Given the description of an element on the screen output the (x, y) to click on. 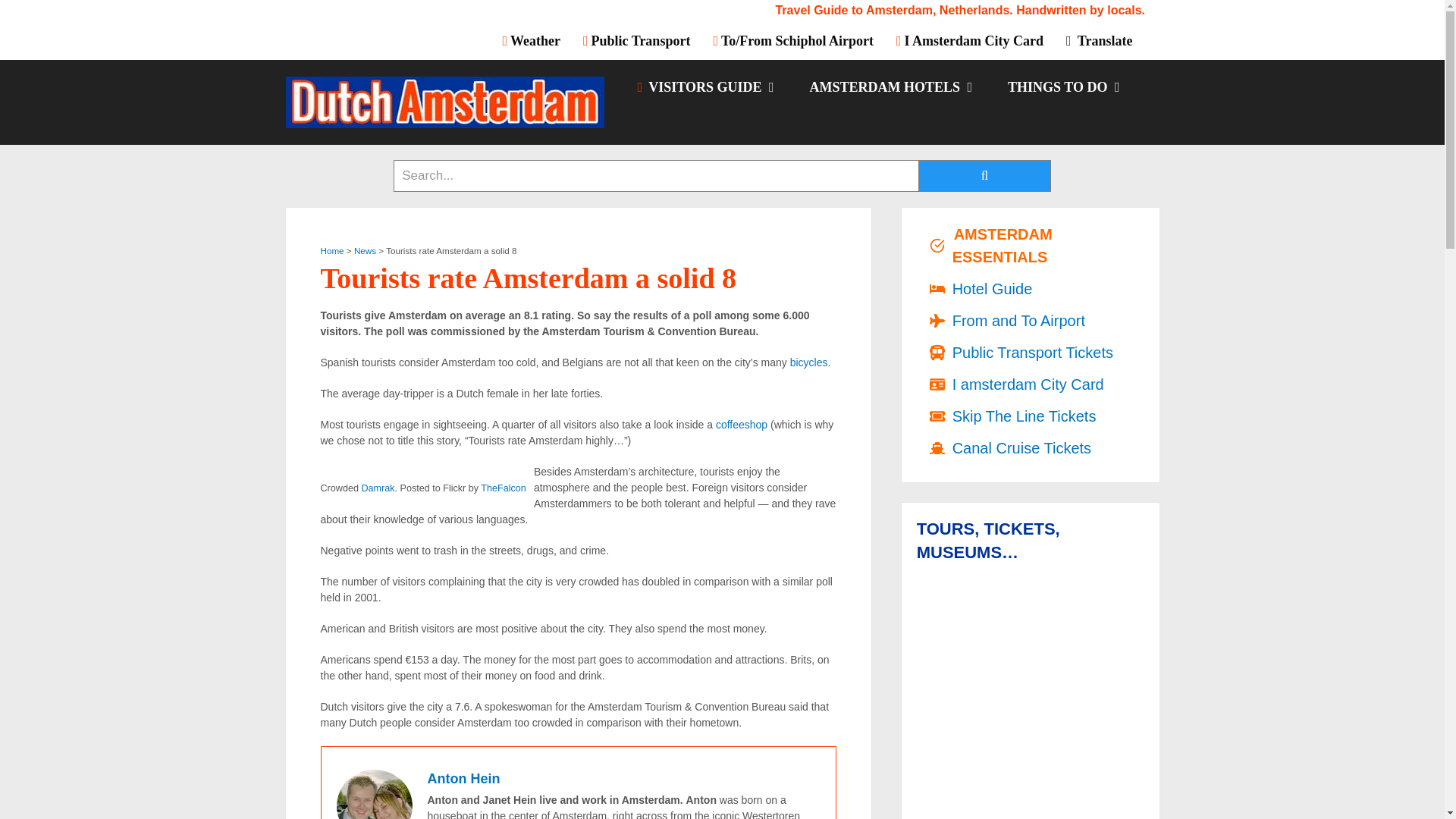
AMSTERDAM HOTELS (890, 86)
Translate this page (1098, 40)
Things to do in Amsterdam (1061, 86)
Translate (1098, 40)
Visitors Guide (704, 86)
I Amsterdam City Card (969, 40)
Weather (537, 40)
Hotel Guide (890, 86)
THINGS TO DO (1061, 86)
VISITORS GUIDE (704, 86)
